Given the description of an element on the screen output the (x, y) to click on. 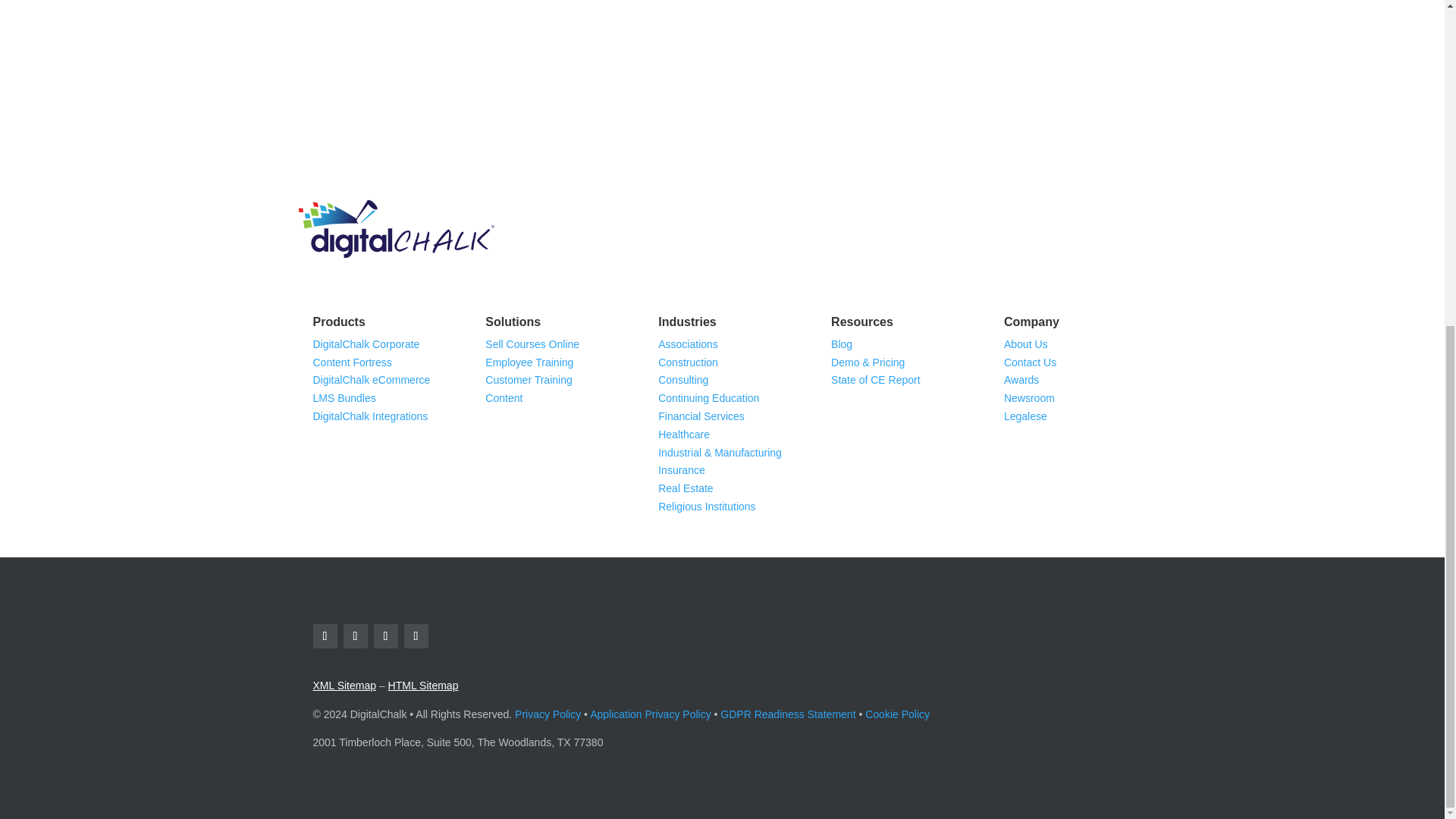
Healthcare (684, 434)
DigitalChalk eCommerce (371, 379)
digitalchalk (396, 228)
DigitalChalk Integrations (370, 416)
Content (503, 398)
Content Fortress (352, 362)
Consulting (682, 379)
Associations (687, 344)
DigitalChalk Corporate (366, 344)
Financial Services (701, 416)
Customer Training (528, 379)
Sell Courses Online (531, 344)
Construction (687, 362)
LMS Bundles (344, 398)
Continuing Education (708, 398)
